Given the description of an element on the screen output the (x, y) to click on. 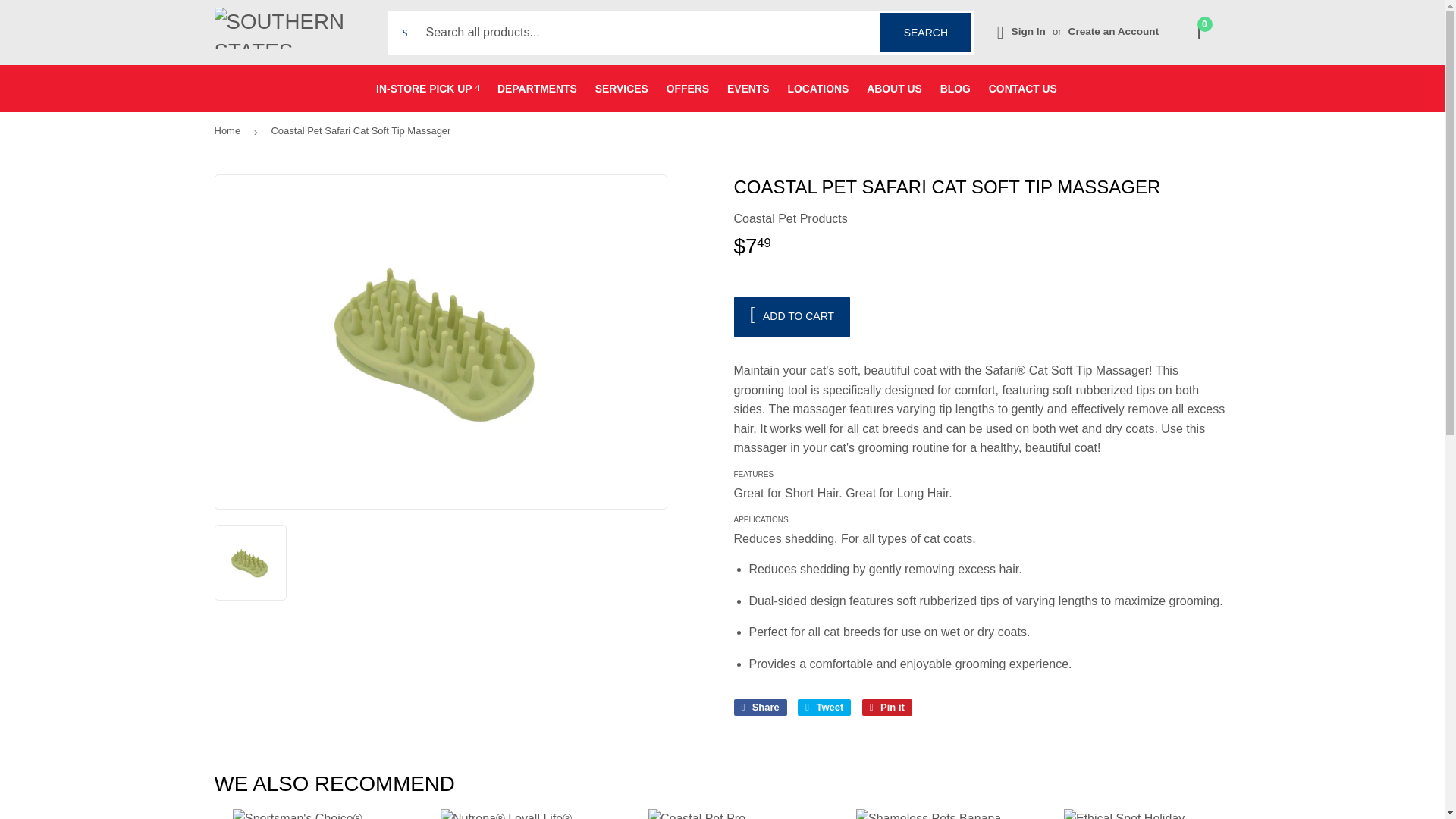
Tweet on Twitter (823, 707)
Pin on Pinterest (886, 707)
Share on Facebook (760, 707)
Create an Account (1113, 30)
IN-STORE PICK UP (427, 88)
Open Product Zoom (441, 341)
Sign In (1028, 30)
0 (925, 32)
